Given the description of an element on the screen output the (x, y) to click on. 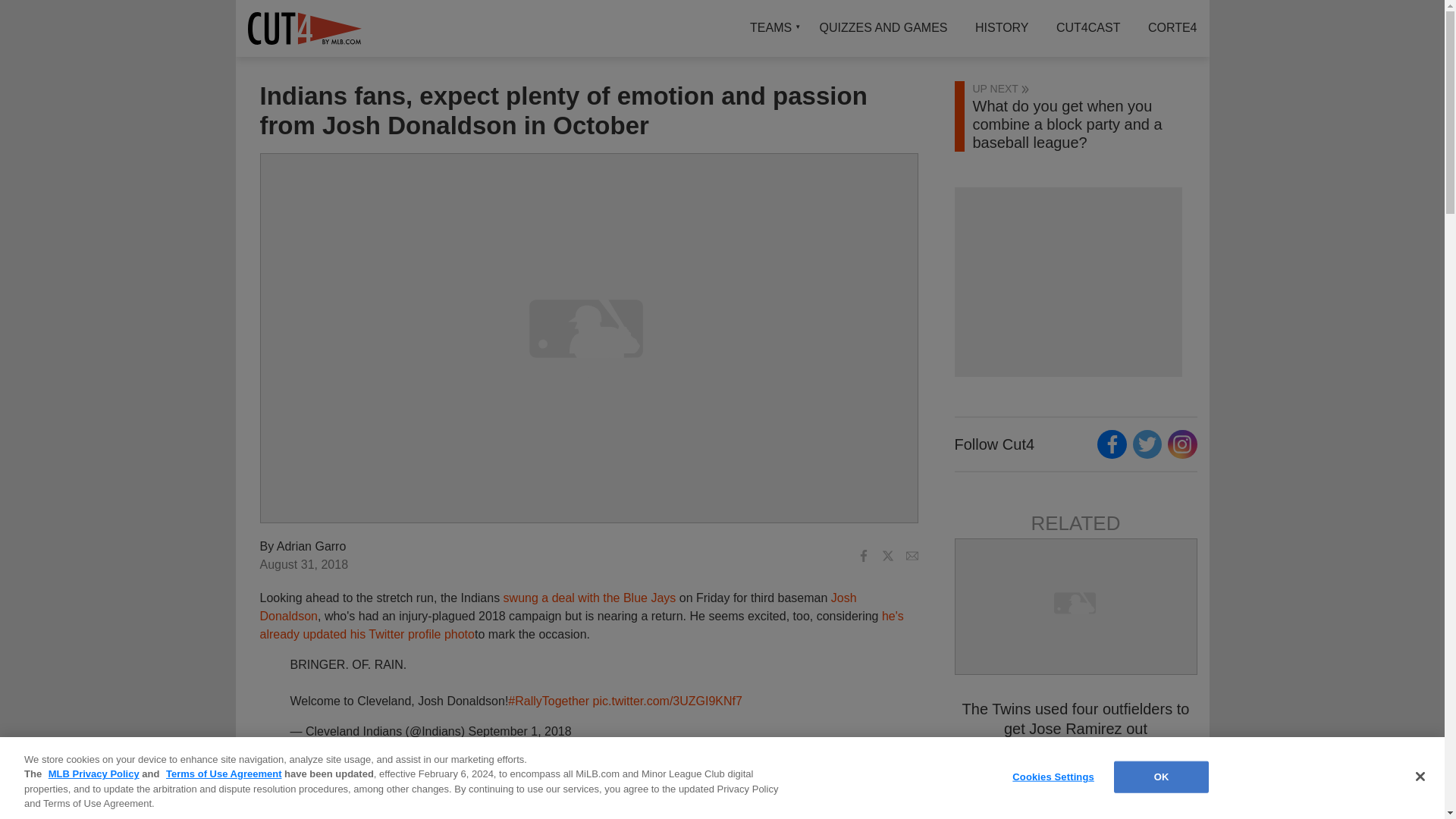
HISTORY (1001, 27)
3rd party ad content (1066, 281)
CUT4CAST (1087, 27)
Josh Donaldson (557, 606)
QUIZZES AND GAMES (883, 27)
Facebook icon (863, 555)
swung a deal with the Blue Jays (590, 597)
X icon (886, 555)
CORTE4 (1165, 27)
Email icon (911, 555)
